Given the description of an element on the screen output the (x, y) to click on. 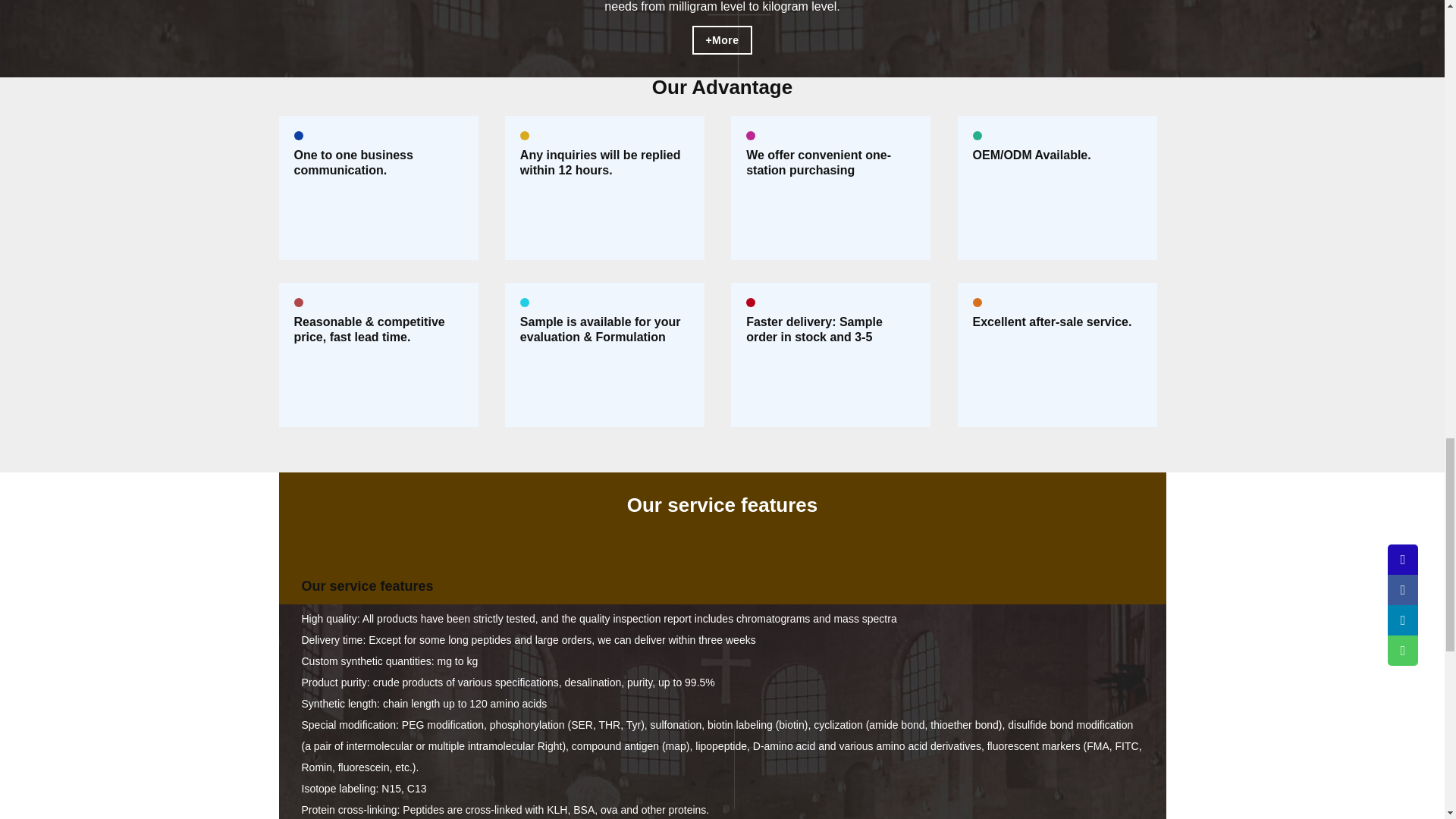
About Us Read More (722, 39)
